Given the description of an element on the screen output the (x, y) to click on. 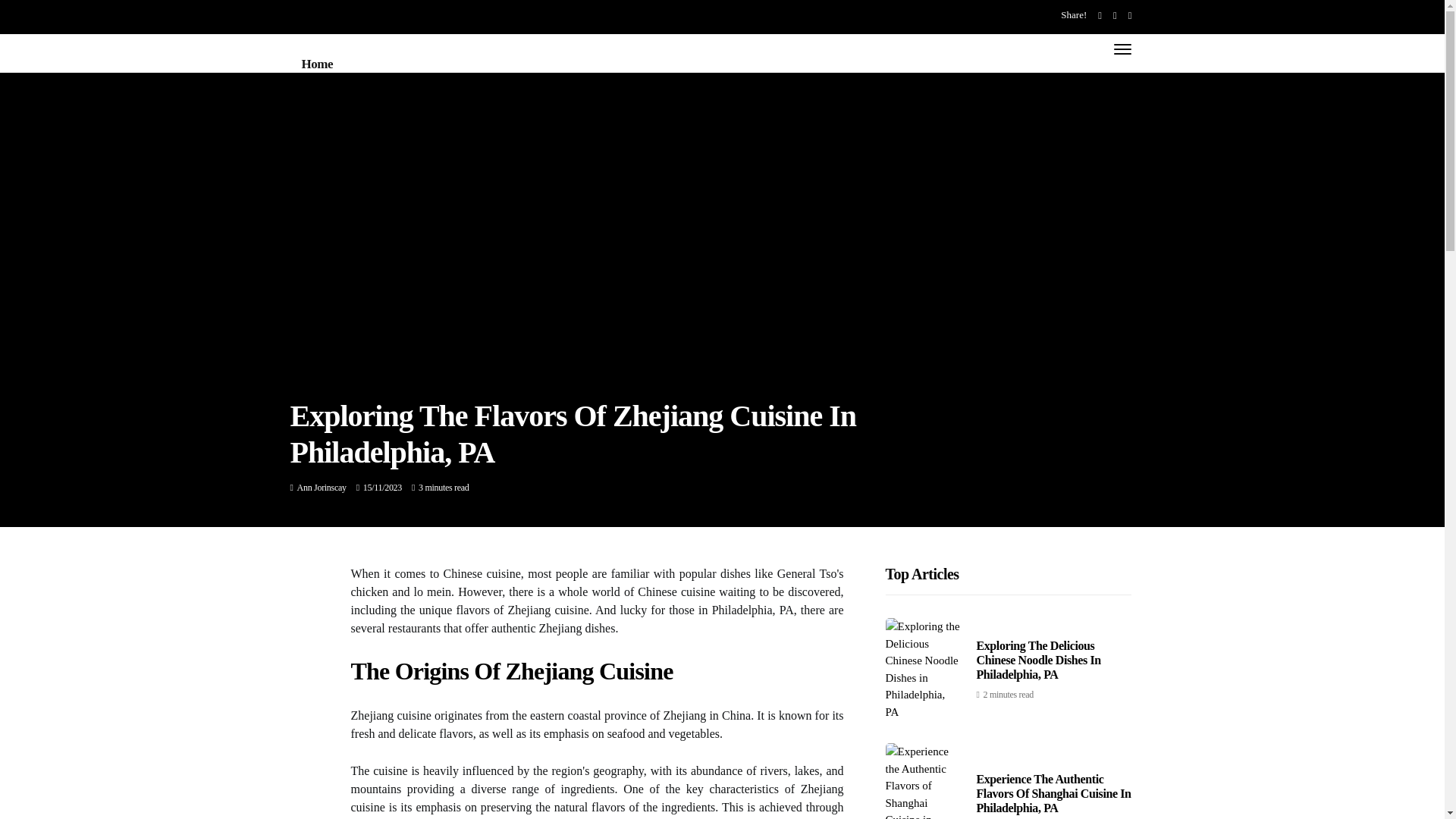
Posts by Ann Jorinscay (321, 487)
Ann Jorinscay (321, 487)
